Given the description of an element on the screen output the (x, y) to click on. 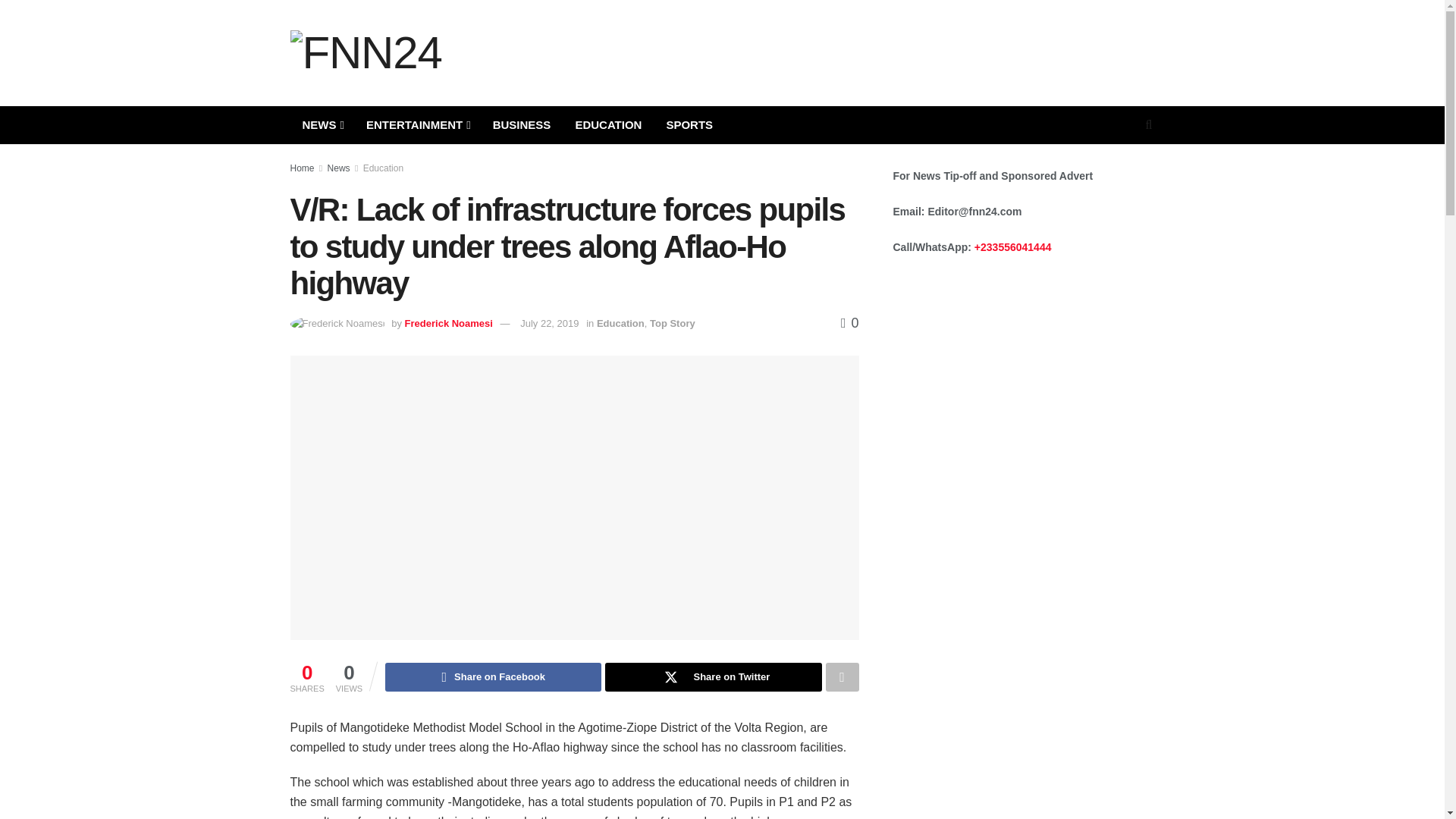
EDUCATION (607, 125)
SPORTS (689, 125)
News (338, 167)
Home (301, 167)
Education (382, 167)
NEWS (321, 125)
BUSINESS (521, 125)
ENTERTAINMENT (416, 125)
